Given the description of an element on the screen output the (x, y) to click on. 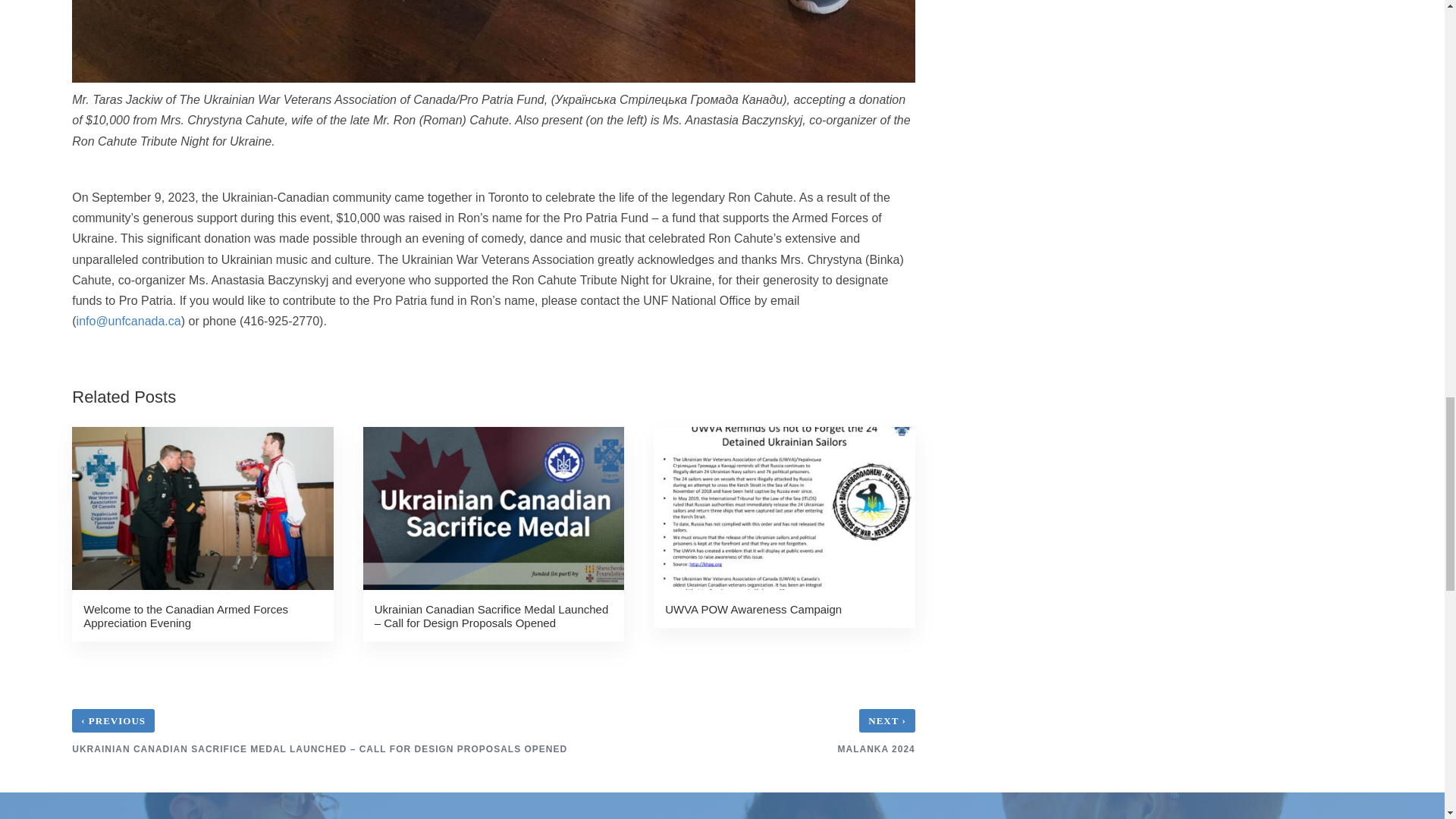
Cahute with 3b (493, 41)
